Given the description of an element on the screen output the (x, y) to click on. 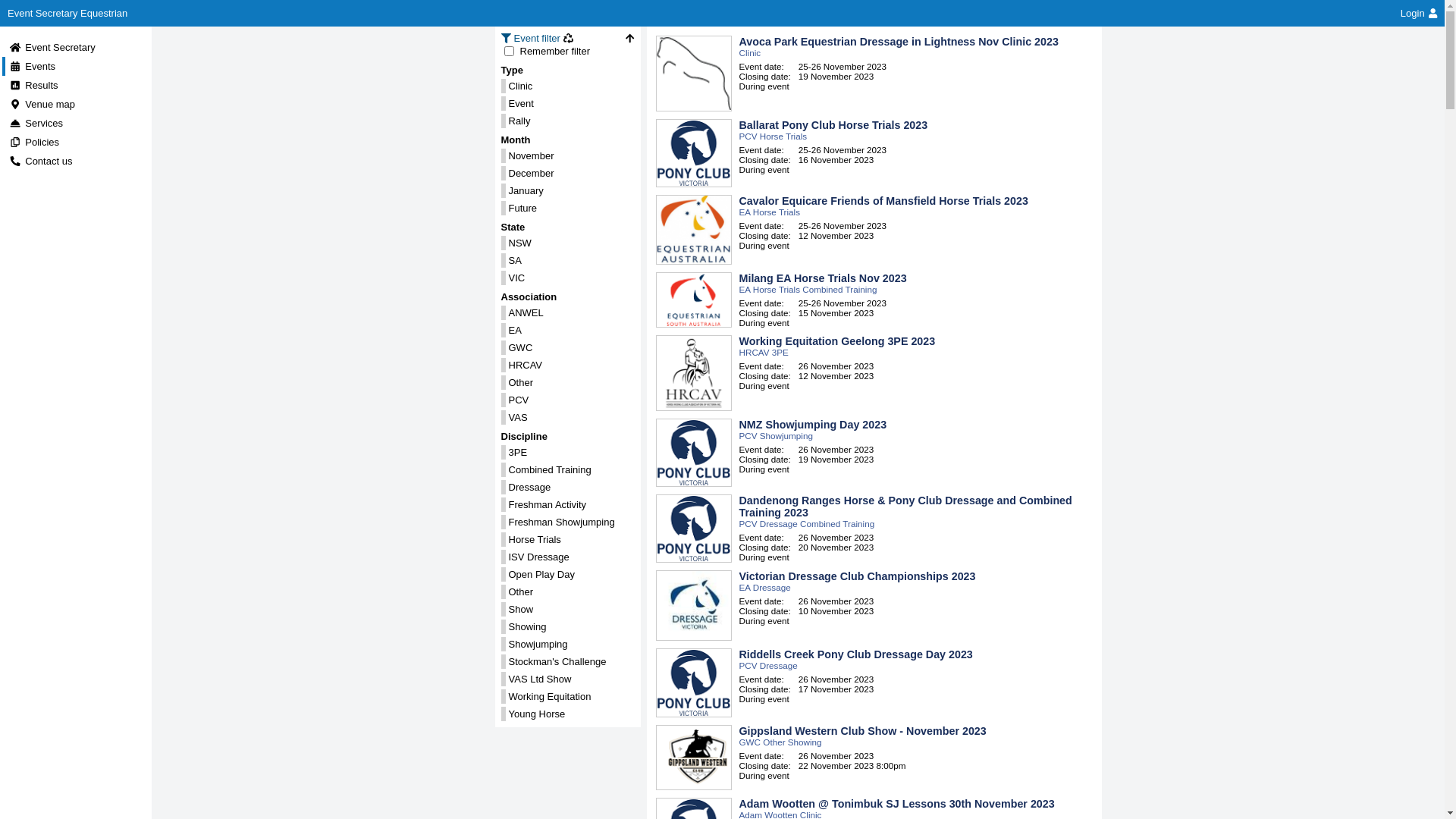
Venue map Element type: text (42, 103)
Results Element type: text (33, 85)
Contact us Element type: text (40, 160)
Hide Filter Element type: hover (629, 37)
Login Element type: text (1418, 12)
Events Element type: text (32, 66)
Policies Element type: text (34, 141)
Services Element type: text (35, 122)
Remove filters Element type: hover (568, 37)
Event Secretary Element type: text (52, 47)
